Given the description of an element on the screen output the (x, y) to click on. 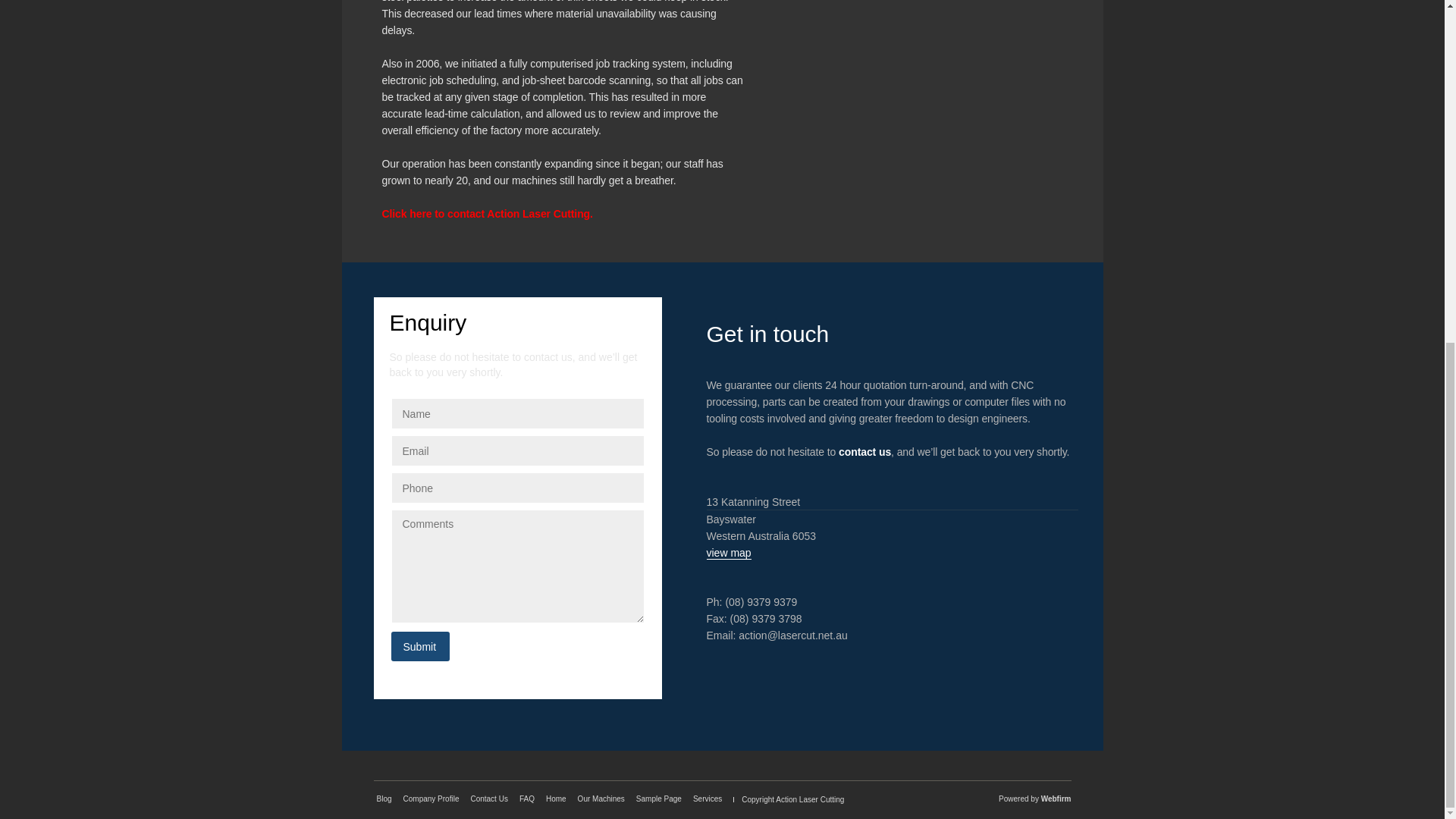
FAQ (526, 798)
contact us (864, 451)
Submit (420, 645)
Sample Page (658, 798)
Submit (420, 645)
Contact Us (488, 798)
Home (556, 798)
Our Machines (601, 798)
Blog (383, 798)
Webfirm (1056, 798)
Services (707, 798)
Company Profile (431, 798)
Click here to contact Action Laser Cutting. (486, 214)
view map (728, 553)
